Given the description of an element on the screen output the (x, y) to click on. 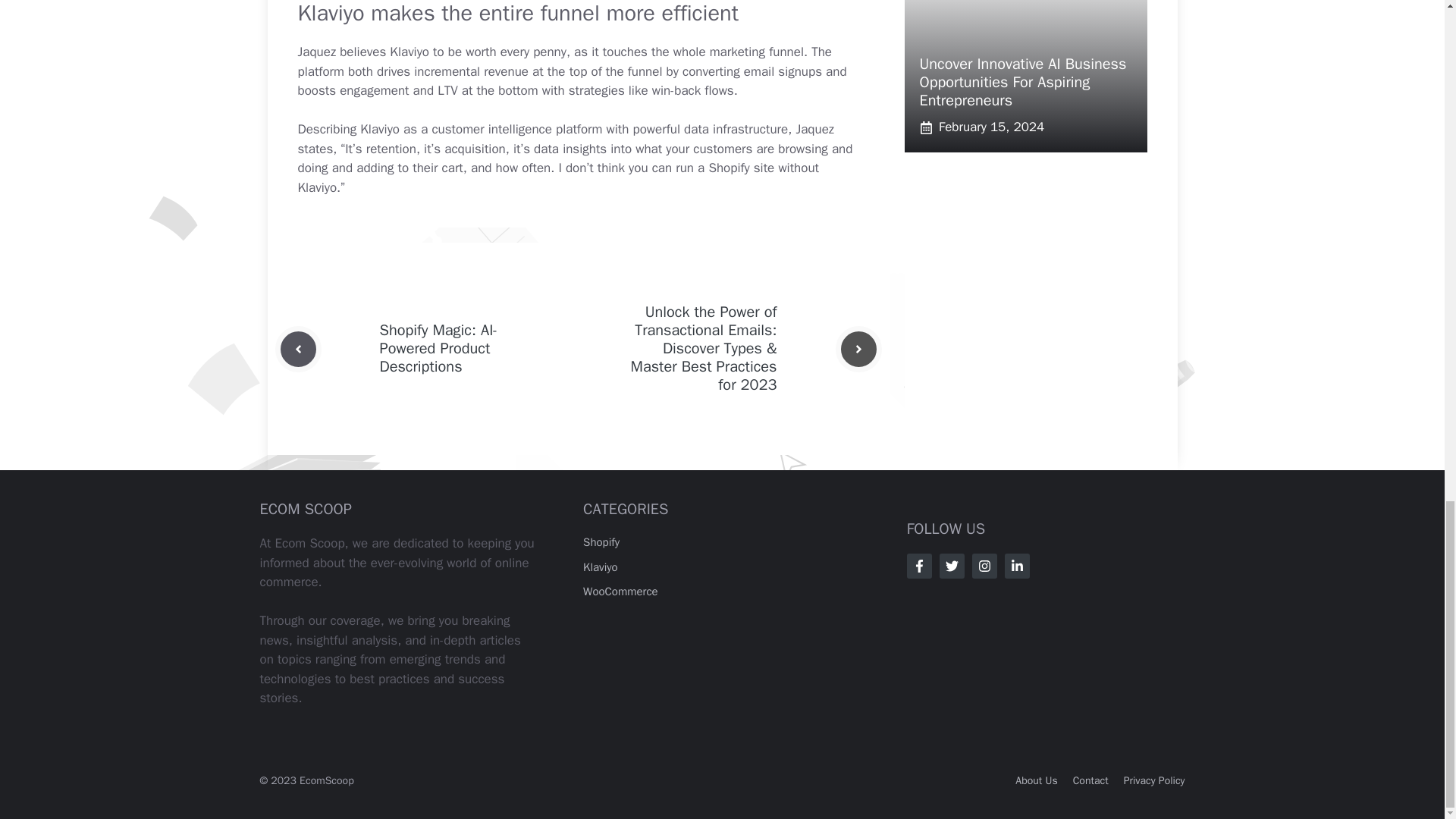
Scroll back to top (1406, 232)
Contact (1090, 780)
Klaviyo (600, 567)
About Us (1035, 780)
WooCommerce (620, 591)
Privacy Policy (1154, 780)
Shopify (601, 541)
Shopify Magic: AI-Powered Product Descriptions (437, 348)
